Given the description of an element on the screen output the (x, y) to click on. 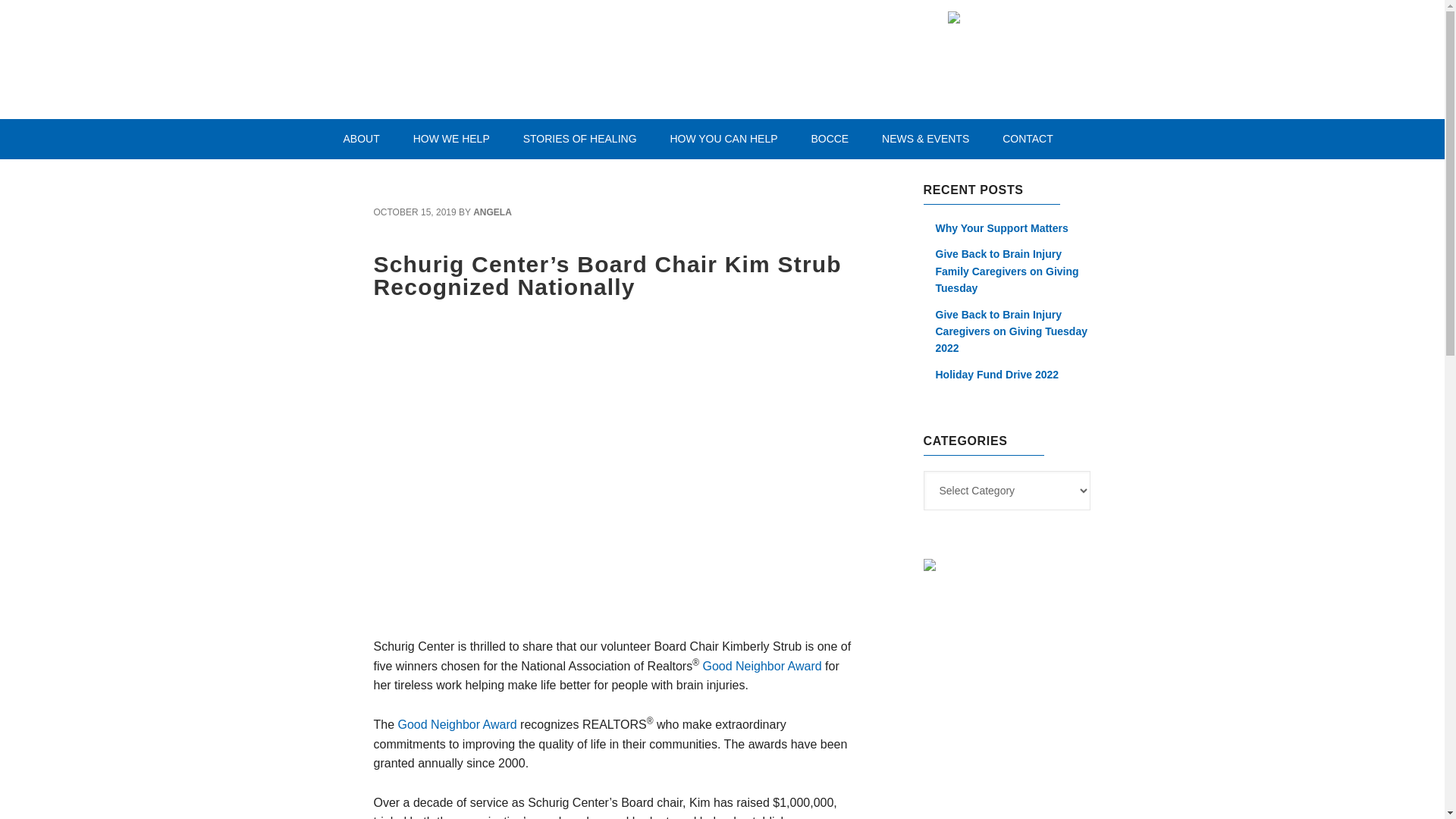
STORIES OF HEALING (580, 138)
BOCCE (828, 138)
ANGELA (492, 212)
Good Neighbor Award (456, 724)
HOW WE HELP (451, 138)
HOW YOU CAN HELP (722, 138)
Good Neighbor Award (761, 666)
Schurig Center for Brain Injury Recovery (535, 56)
ABOUT (360, 138)
CONTACT (1027, 138)
